Given the description of an element on the screen output the (x, y) to click on. 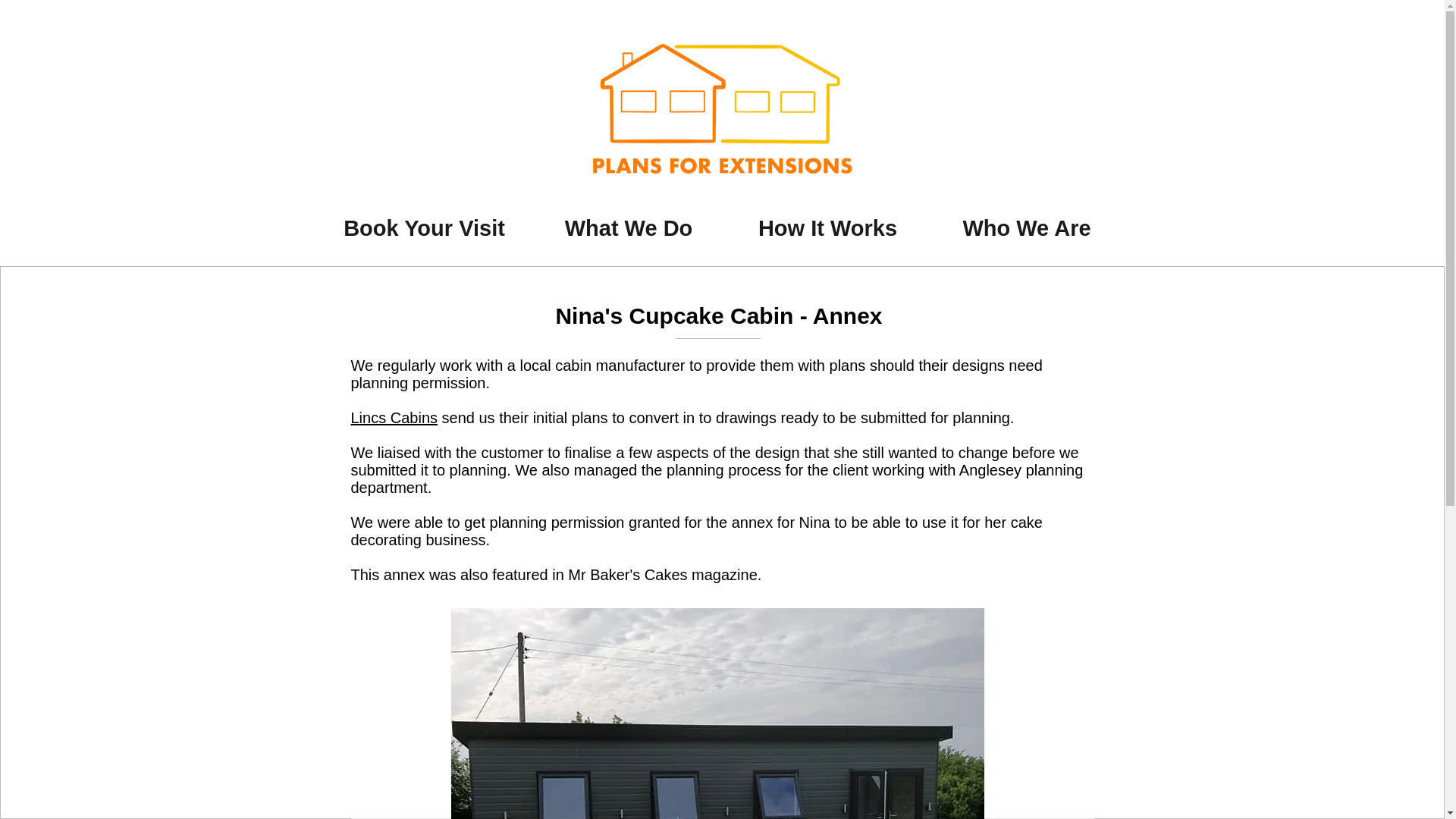
Book Your Visit (423, 224)
What We Do (627, 224)
Lincs Cabins (394, 417)
How It Works (828, 224)
Who We Are (1026, 224)
